Given the description of an element on the screen output the (x, y) to click on. 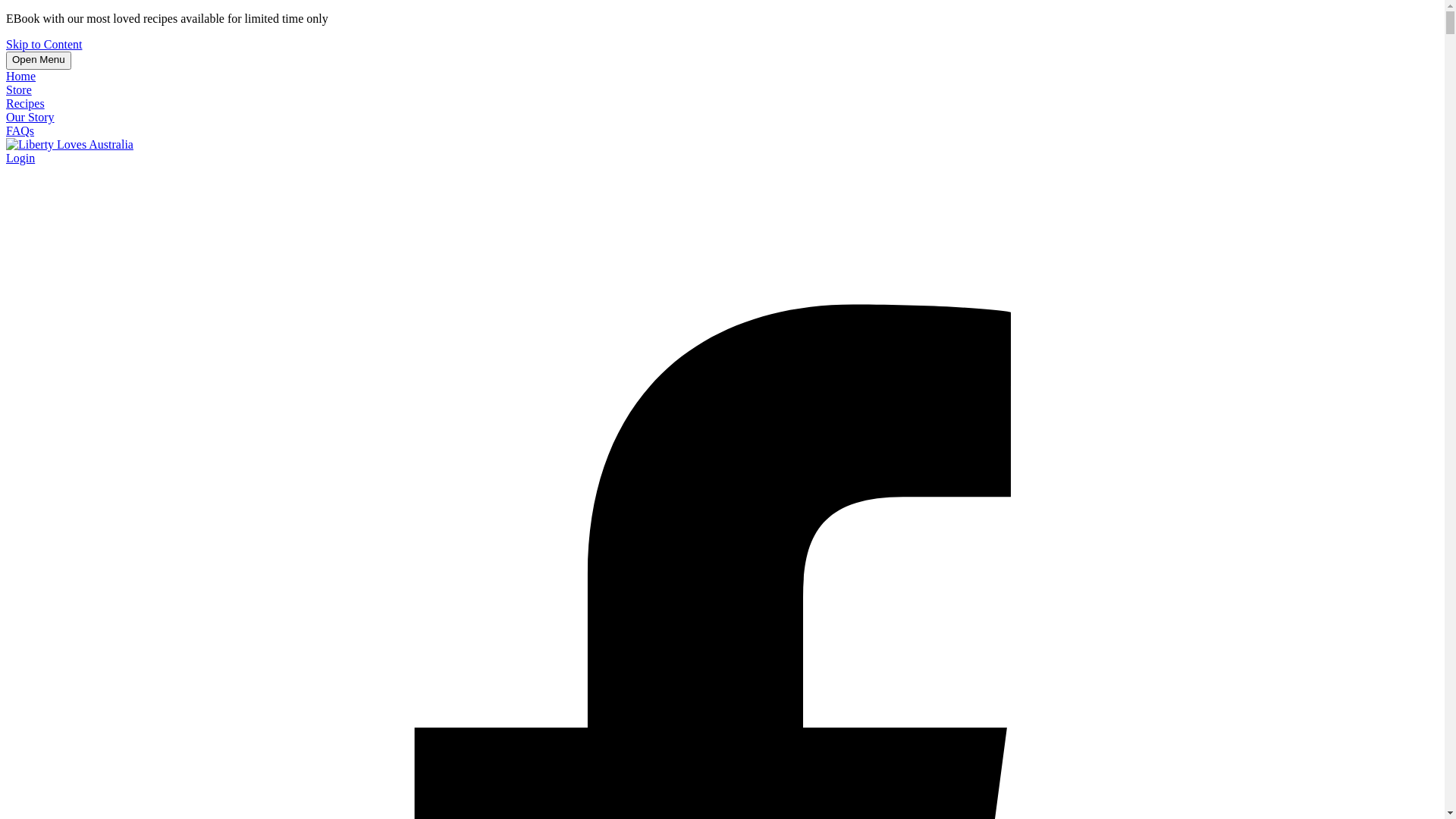
Home Element type: text (20, 75)
FAQs Element type: text (20, 130)
Skip to Content Element type: text (43, 43)
Recipes Element type: text (25, 103)
Store Element type: text (18, 89)
Login Element type: text (20, 157)
Our Story Element type: text (30, 116)
Open Menu Element type: text (38, 60)
